Given the description of an element on the screen output the (x, y) to click on. 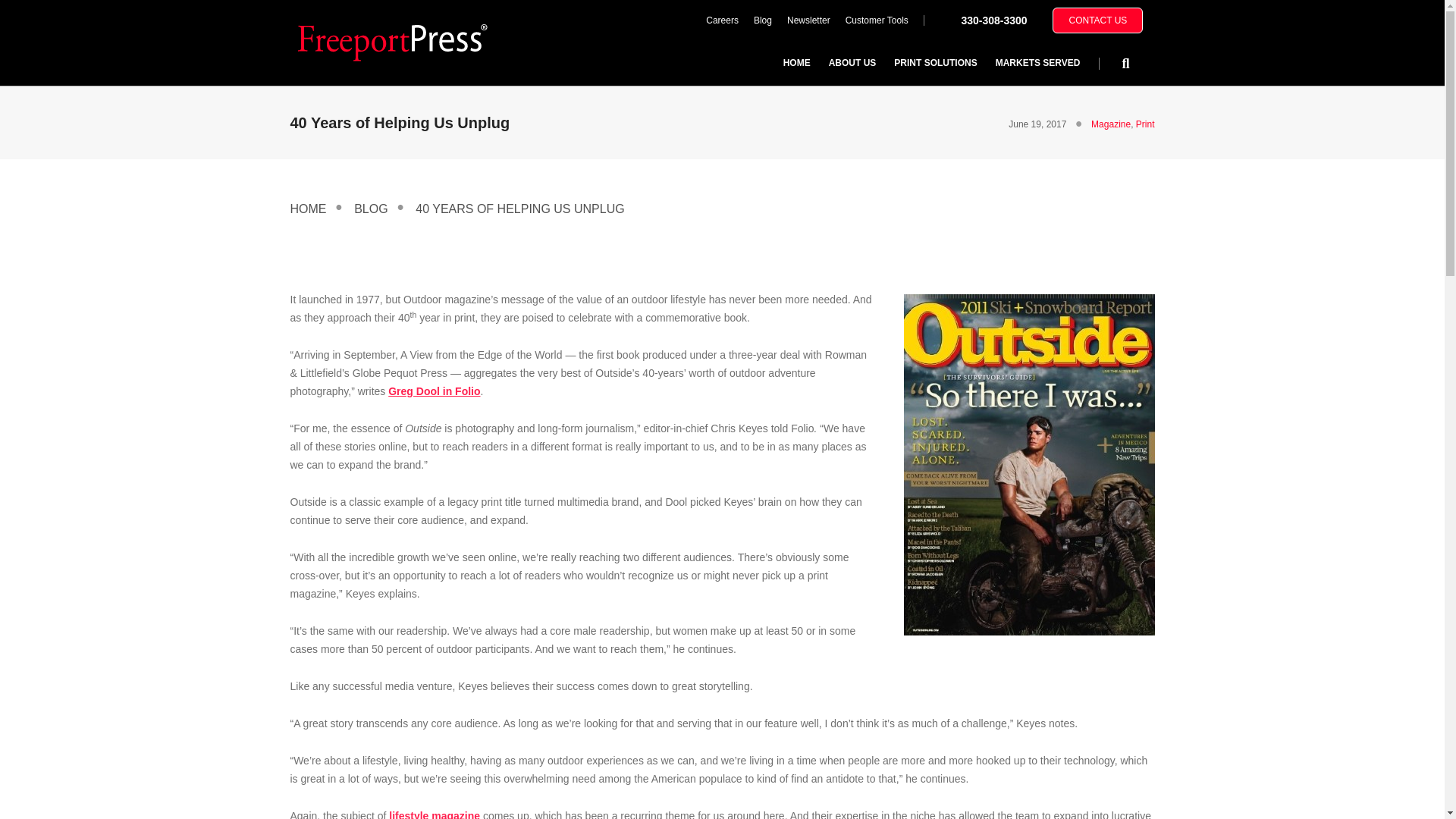
Blog (761, 20)
ABOUT US (852, 62)
HOME (796, 62)
Newsletter (808, 20)
PRINT SOLUTIONS (935, 62)
Careers (721, 20)
330-308-3300 (993, 20)
MARKETS SERVED (1038, 62)
Customer Tools (876, 20)
CONTACT US (1097, 20)
